Given the description of an element on the screen output the (x, y) to click on. 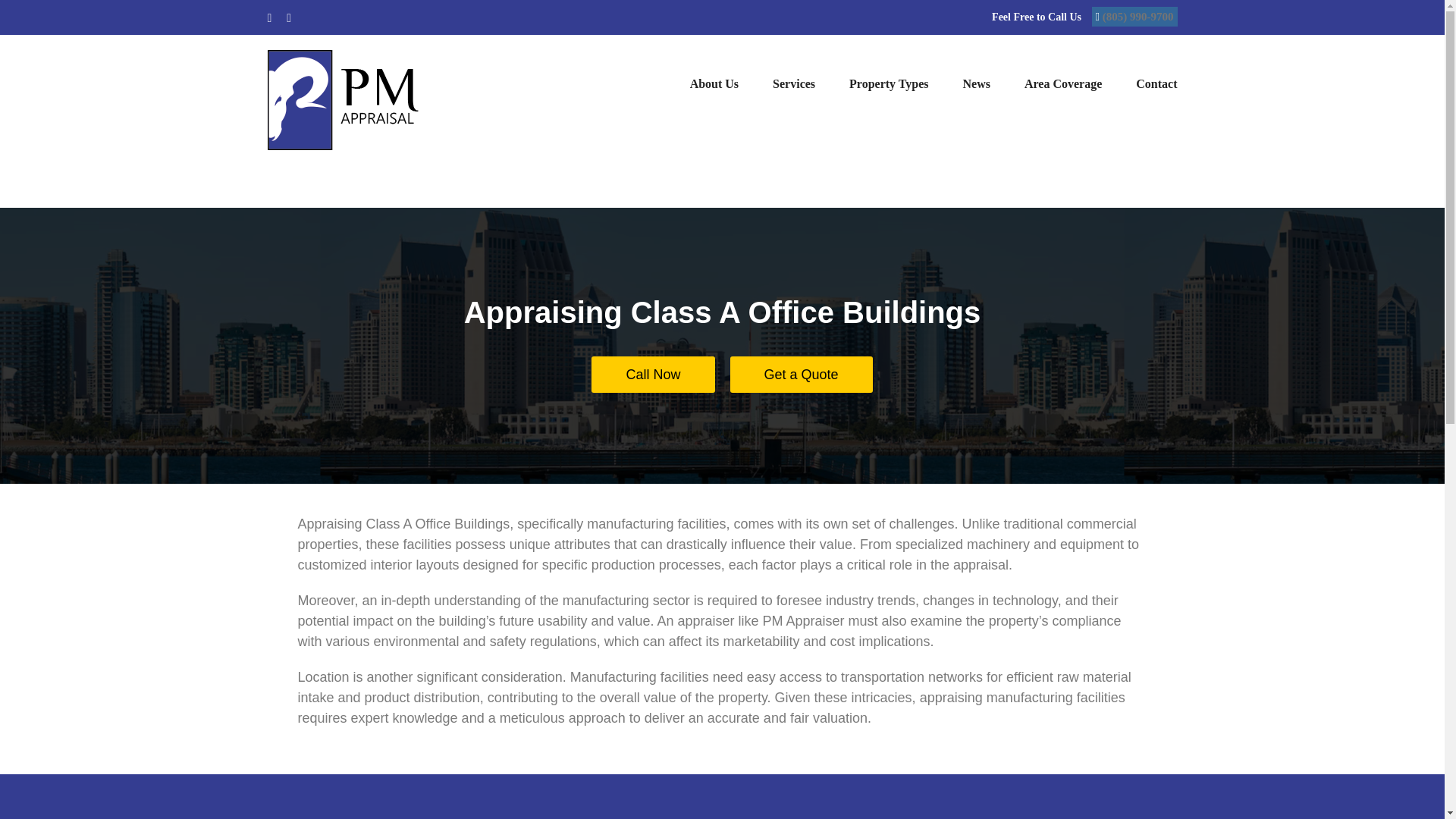
Get a Quote (800, 374)
Call Now (652, 374)
